Given the description of an element on the screen output the (x, y) to click on. 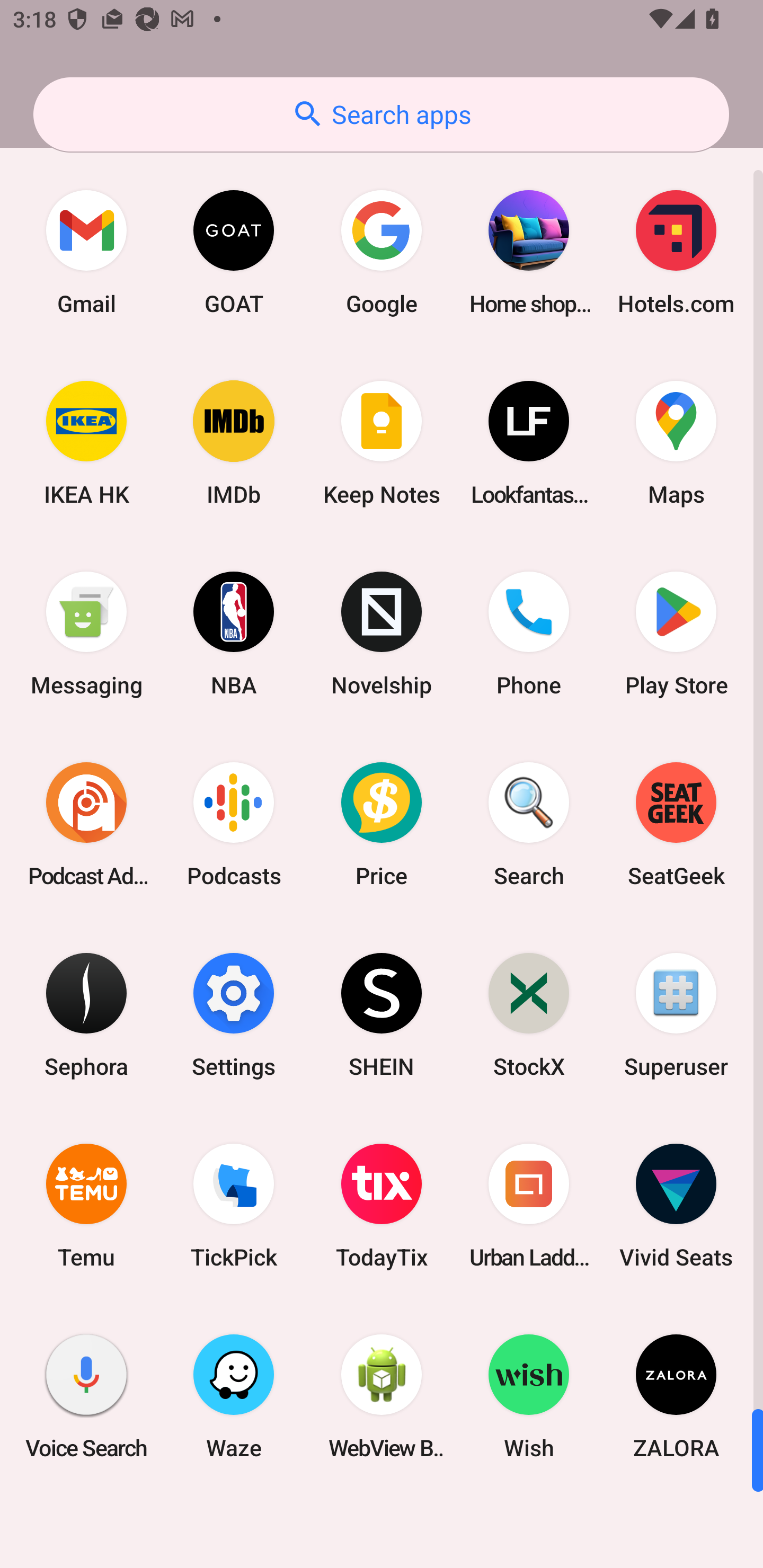
  Search apps (381, 114)
Gmail (86, 252)
GOAT (233, 252)
Google (381, 252)
Home shopping (528, 252)
Hotels.com (676, 252)
IKEA HK (86, 442)
IMDb (233, 442)
Keep Notes (381, 442)
Lookfantastic (528, 442)
Maps (676, 442)
Messaging (86, 633)
NBA (233, 633)
Novelship (381, 633)
Phone (528, 633)
Play Store (676, 633)
Podcast Addict (86, 823)
Podcasts (233, 823)
Price (381, 823)
Search (528, 823)
SeatGeek (676, 823)
Sephora (86, 1014)
Settings (233, 1014)
SHEIN (381, 1014)
StockX (528, 1014)
Superuser (676, 1014)
Temu (86, 1205)
TickPick (233, 1205)
TodayTix (381, 1205)
Urban Ladder (528, 1205)
Vivid Seats (676, 1205)
Voice Search (86, 1396)
Waze (233, 1396)
WebView Browser Tester (381, 1396)
Wish (528, 1396)
ZALORA (676, 1396)
